Given the description of an element on the screen output the (x, y) to click on. 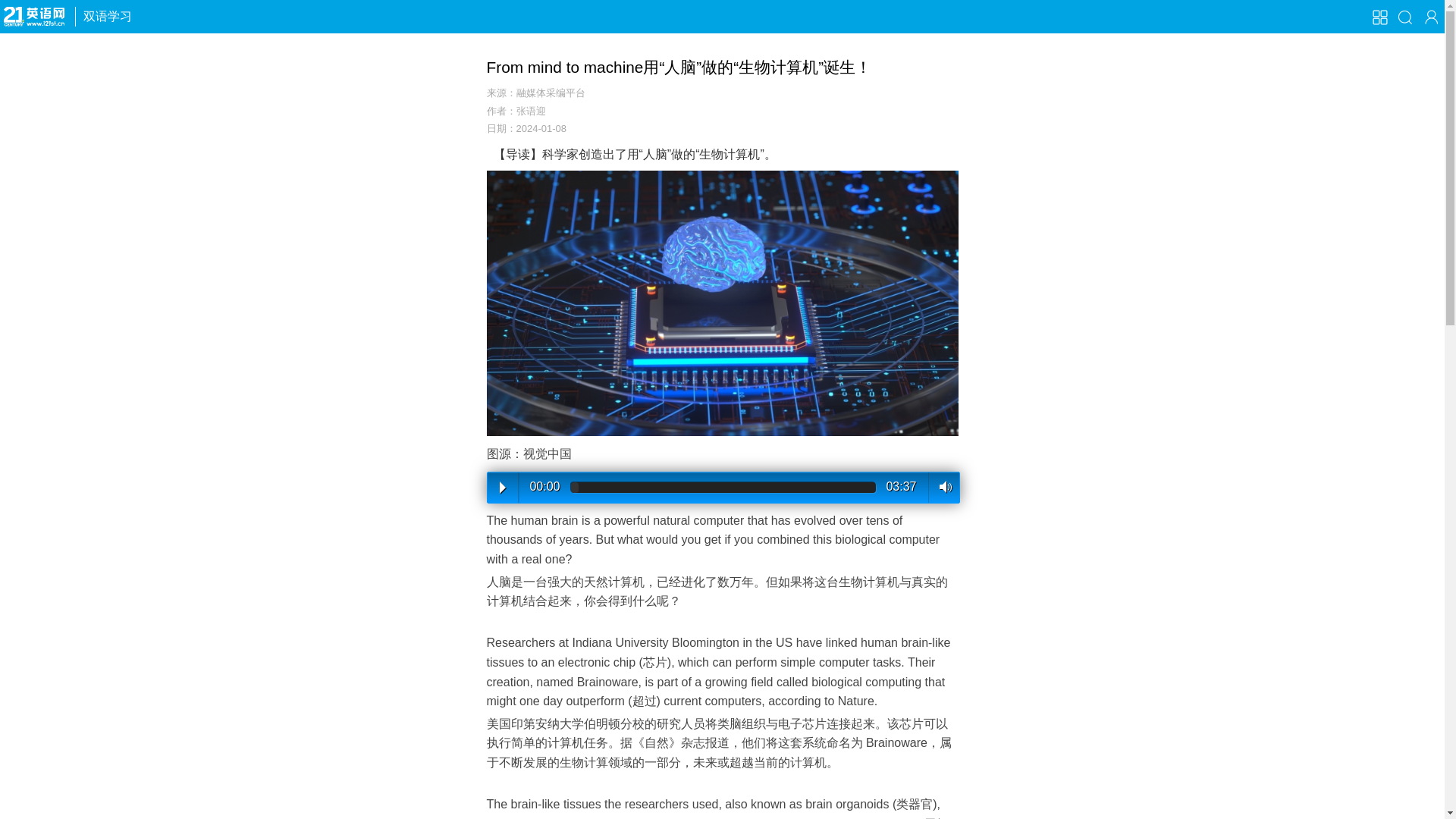
Volume (943, 487)
Play (502, 487)
